Given the description of an element on the screen output the (x, y) to click on. 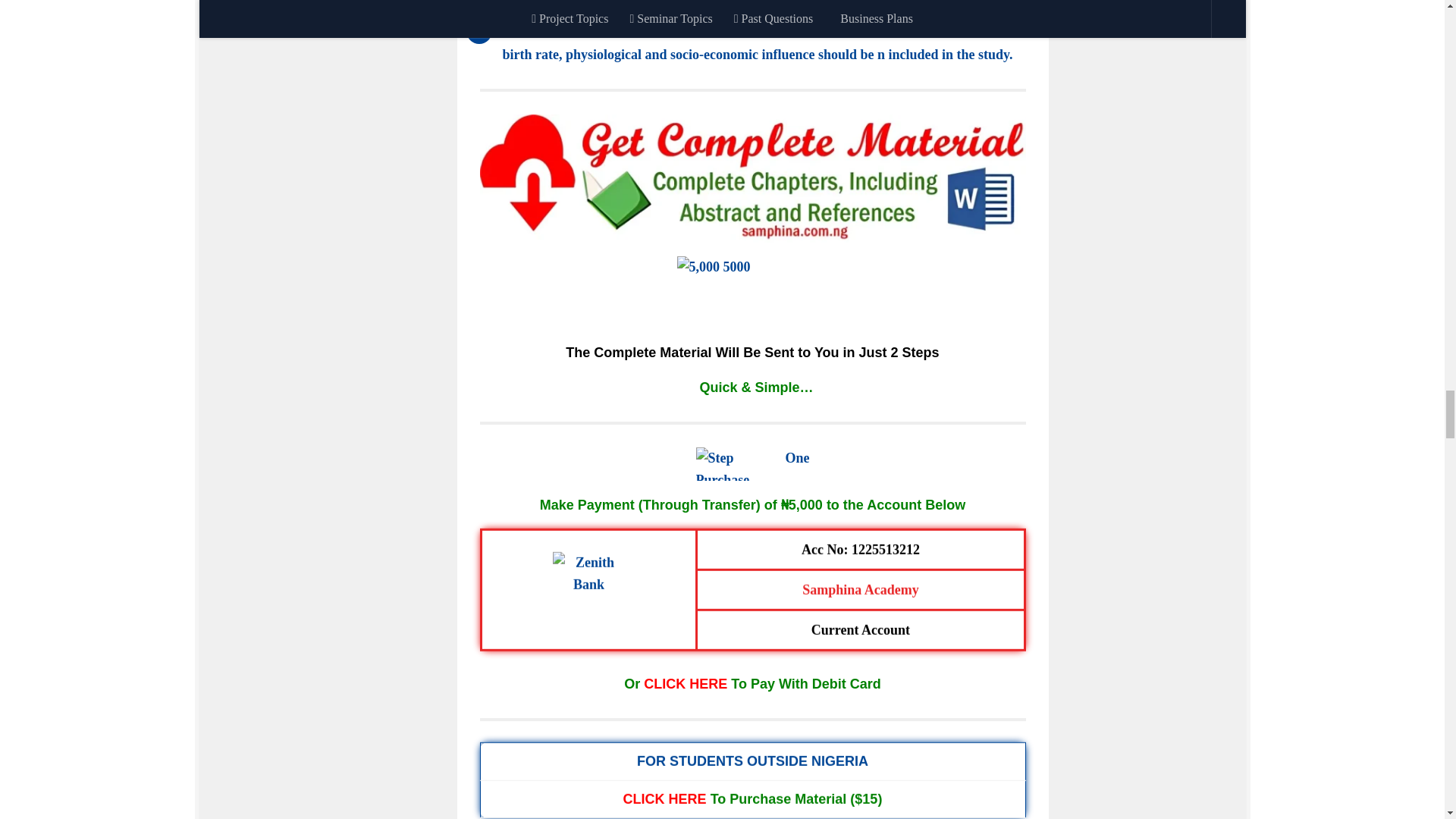
CLICK HERE (664, 798)
CLICK HERE (684, 683)
